Given the description of an element on the screen output the (x, y) to click on. 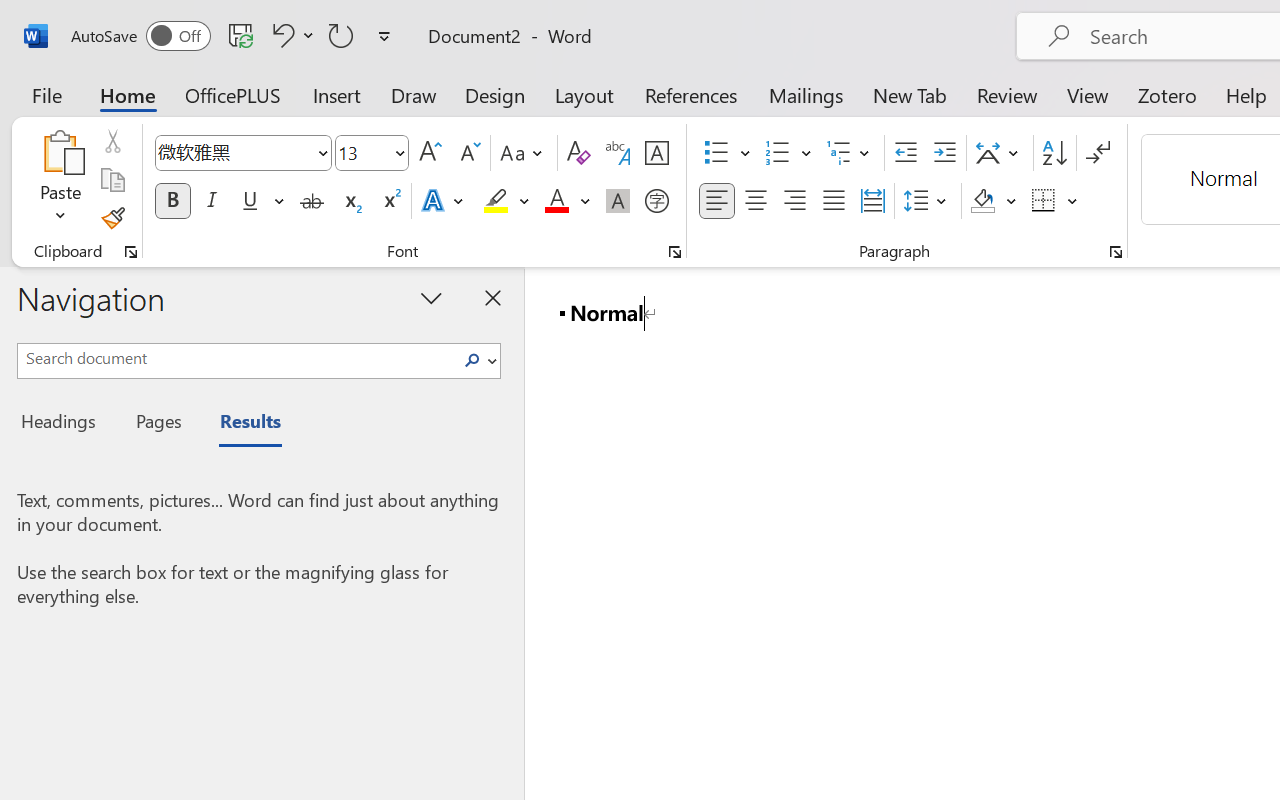
Pages (156, 424)
Text Highlight Color Yellow (495, 201)
Multilevel List (850, 153)
Strikethrough (312, 201)
Justify (834, 201)
Superscript (390, 201)
Customize Quick Access Toolbar (384, 35)
Enclose Characters... (656, 201)
Character Border (656, 153)
Clear Formatting (578, 153)
Headings (64, 424)
